Given the description of an element on the screen output the (x, y) to click on. 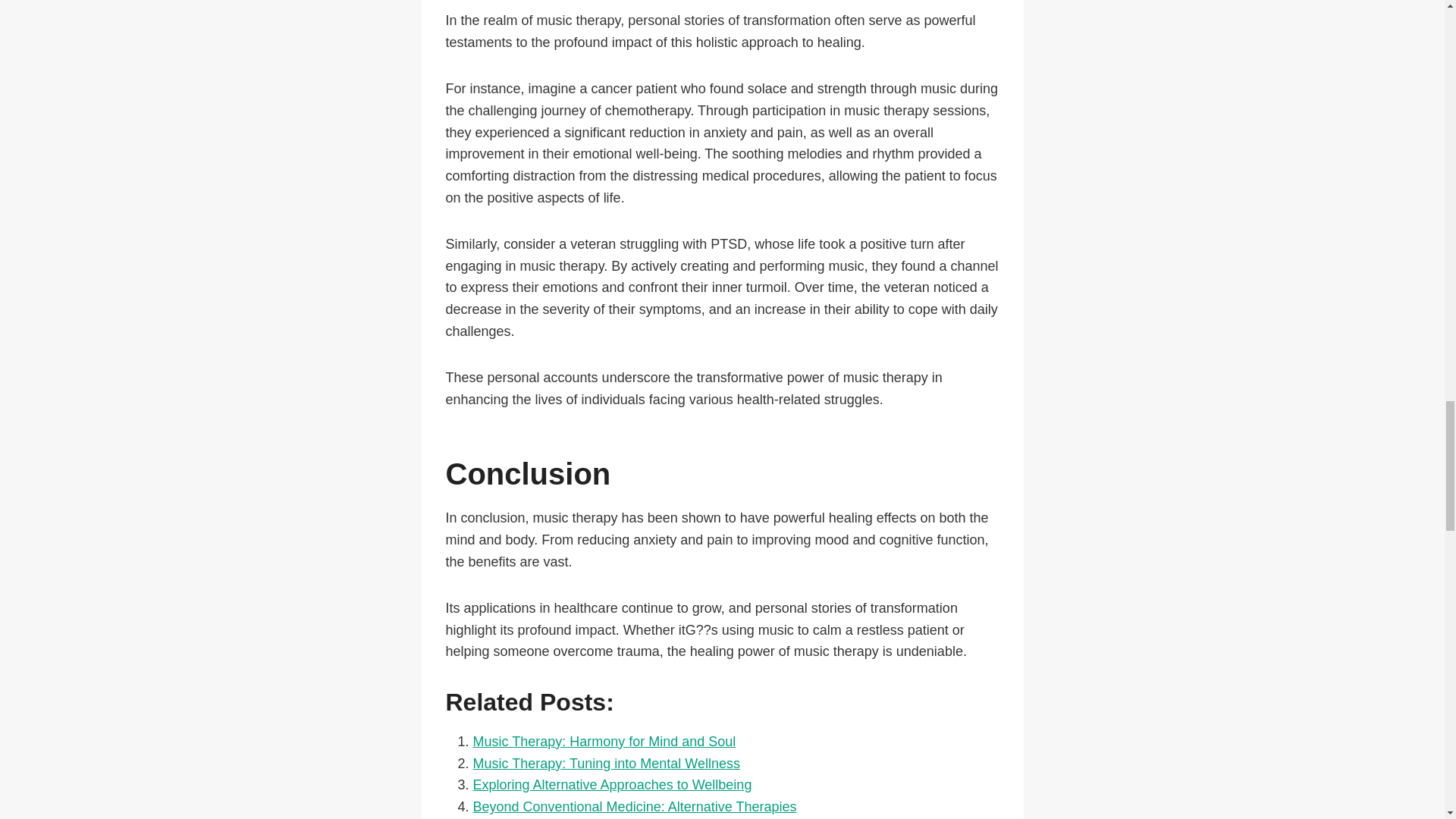
Music Therapy: Harmony for Mind and Soul (604, 741)
Music Therapy: Harmony for Mind and Soul (604, 741)
Exploring Alternative Approaches to Wellbeing (612, 784)
Music Therapy: Tuning into Mental Wellness (607, 763)
Beyond Conventional Medicine: Alternative Therapies (634, 806)
Exploring Alternative Approaches to Wellbeing (612, 784)
Music Therapy: Tuning into Mental Wellness (607, 763)
Beyond Conventional Medicine: Alternative Therapies (634, 806)
